Given the description of an element on the screen output the (x, y) to click on. 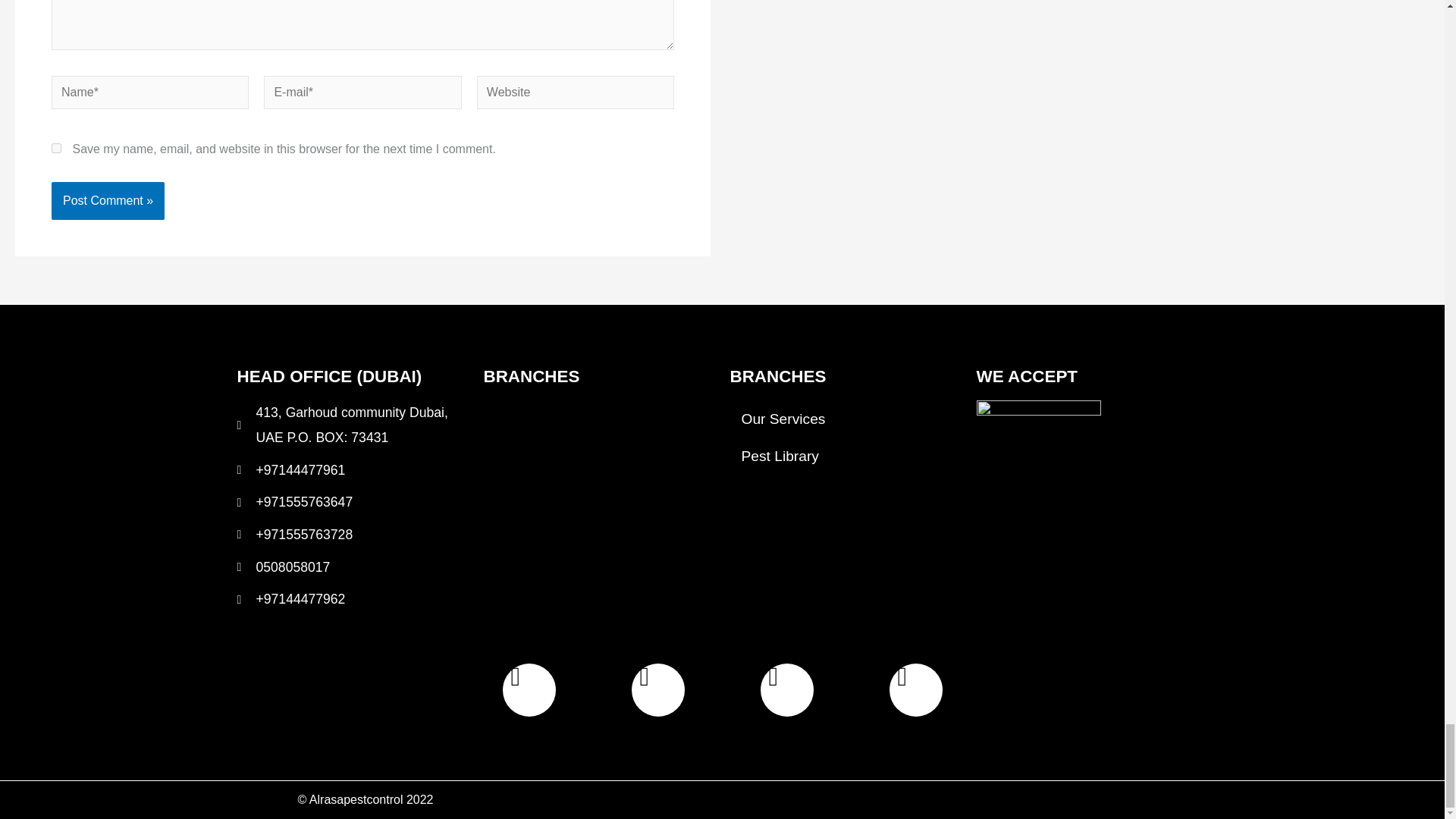
0508058017 (351, 567)
Pest Library (844, 456)
yes (55, 148)
Our Services (844, 418)
